Given the description of an element on the screen output the (x, y) to click on. 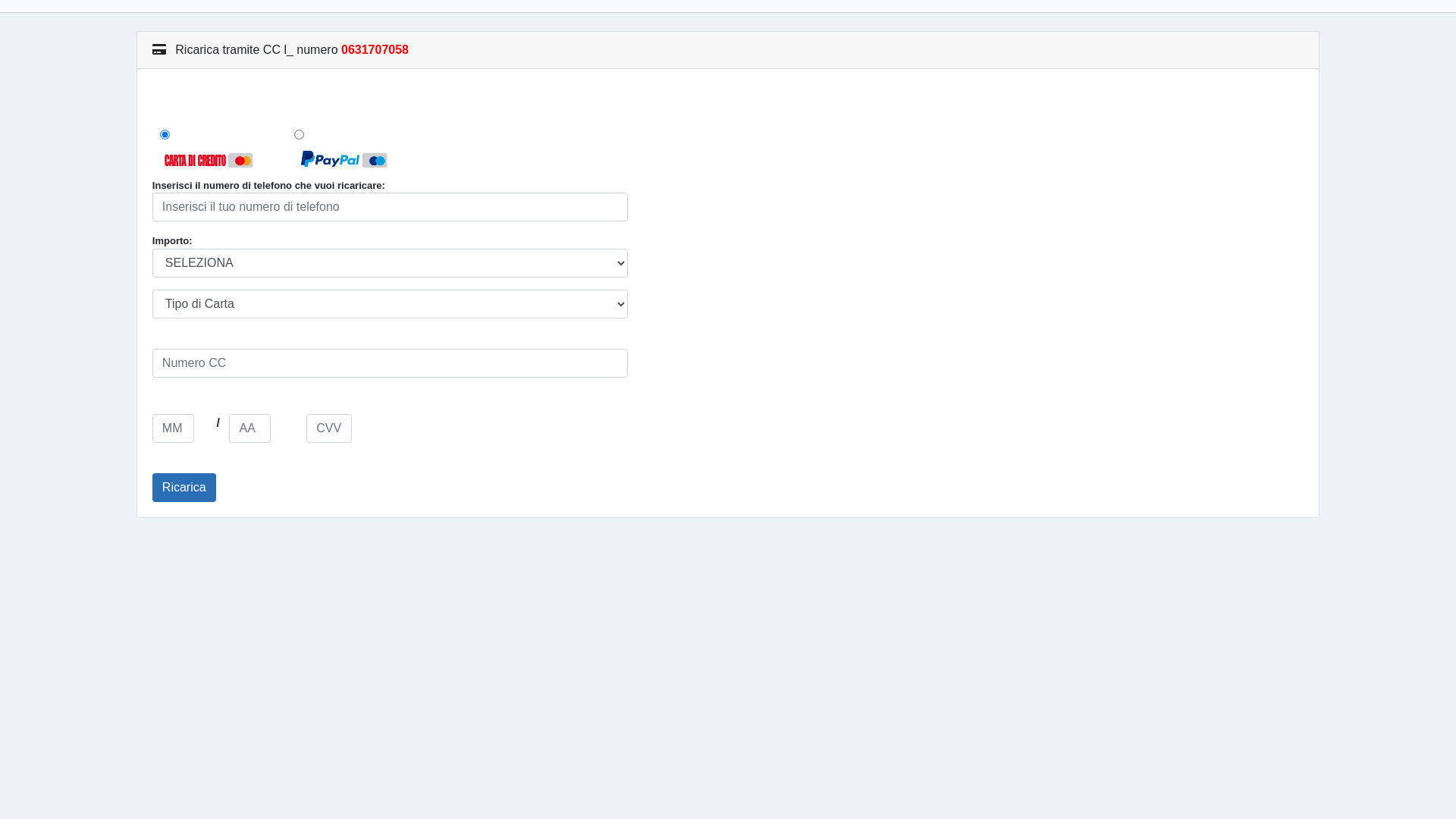
PayPal Element type: hover (343, 158)
Carta di Credito Element type: hover (209, 158)
rb_PP Element type: text (299, 134)
Ricarica Element type: text (184, 487)
